Given the description of an element on the screen output the (x, y) to click on. 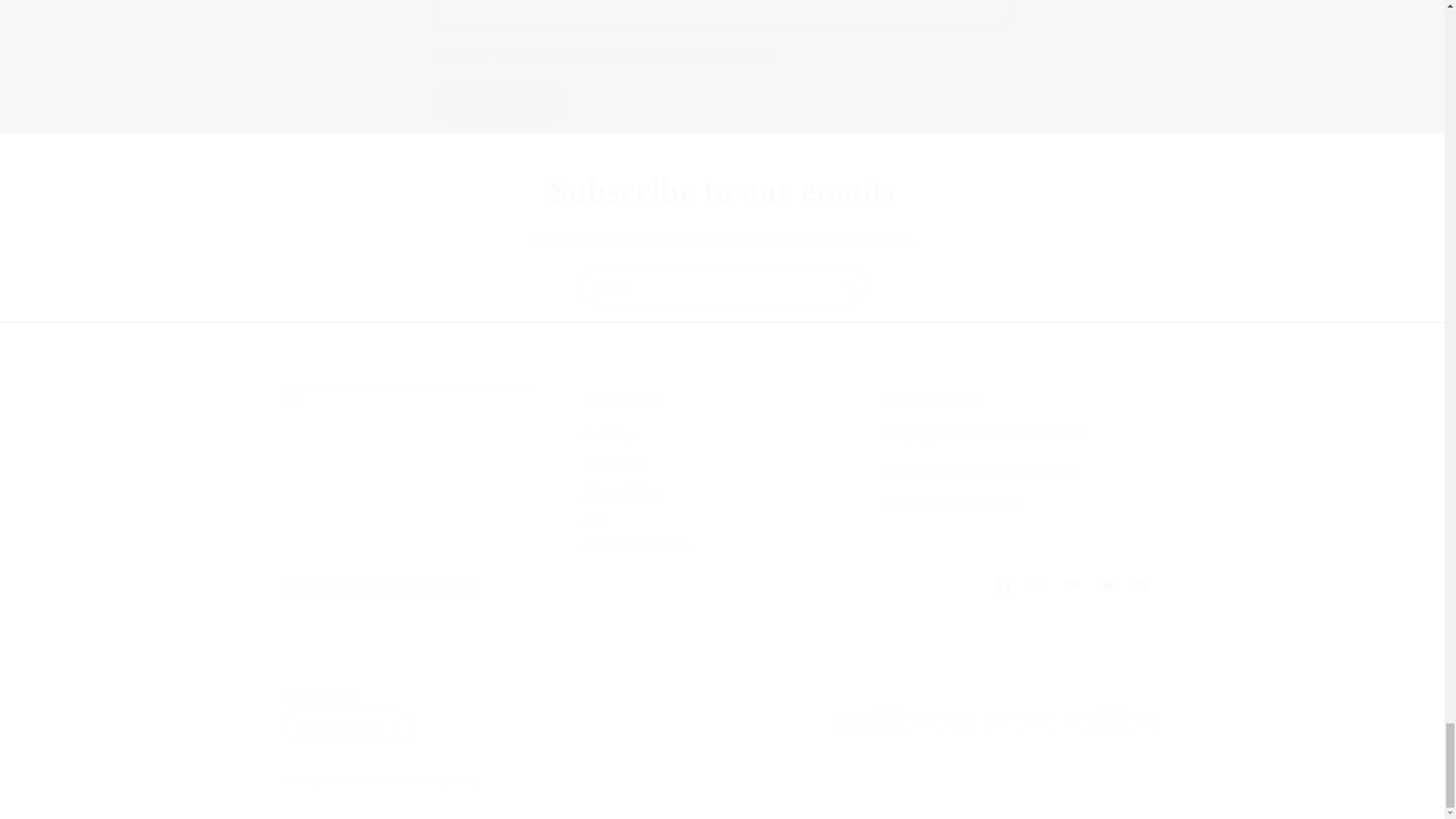
Email (722, 285)
Subscribe to our emails (722, 190)
Post comment (721, 584)
